Given the description of an element on the screen output the (x, y) to click on. 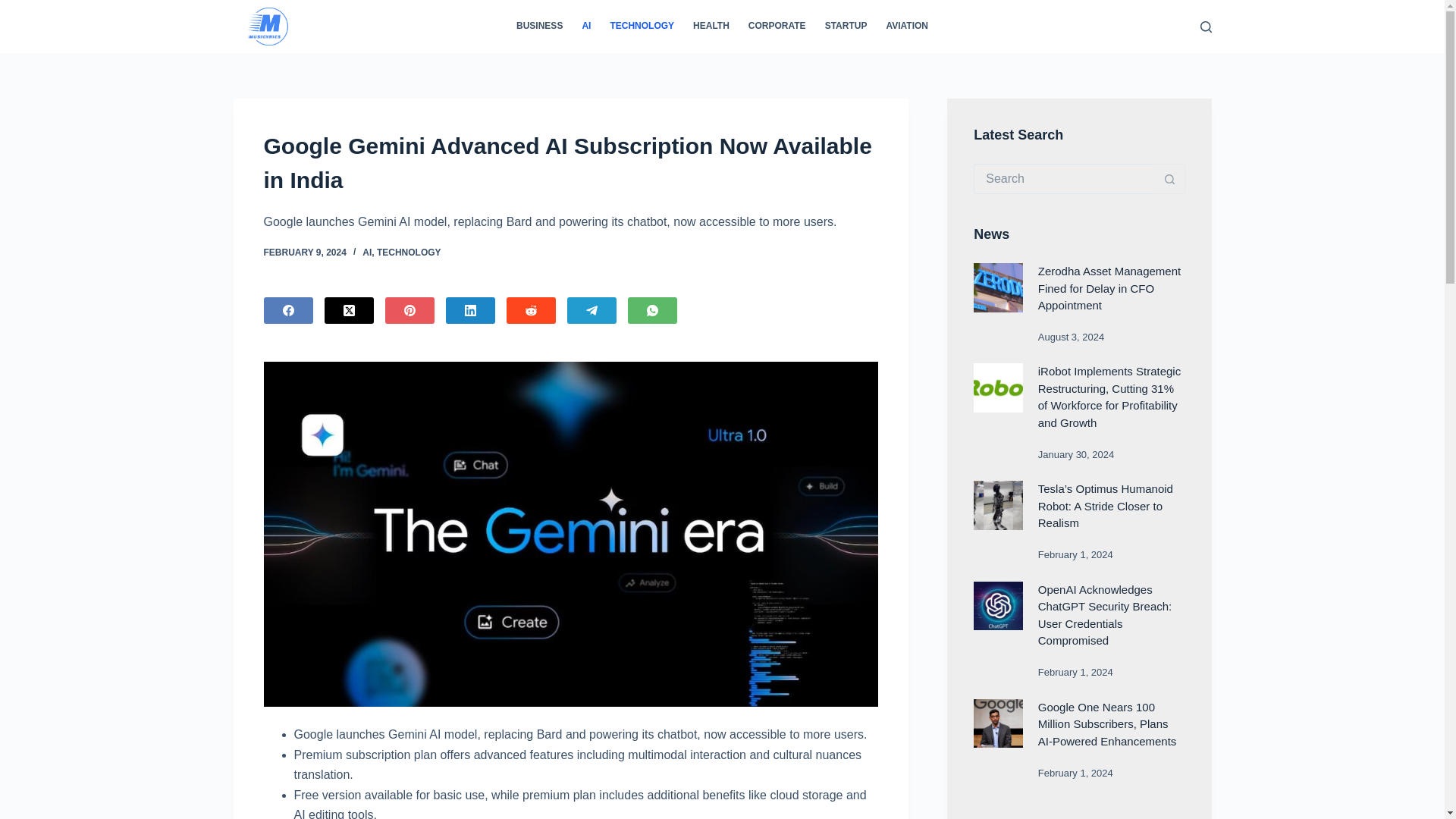
AVIATION (906, 26)
CORPORATE (776, 26)
Skip to content (15, 7)
Search for... (1064, 178)
STARTUP (845, 26)
HEALTH (711, 26)
TECHNOLOGY (641, 26)
TECHNOLOGY (409, 252)
BUSINESS (539, 26)
